Given the description of an element on the screen output the (x, y) to click on. 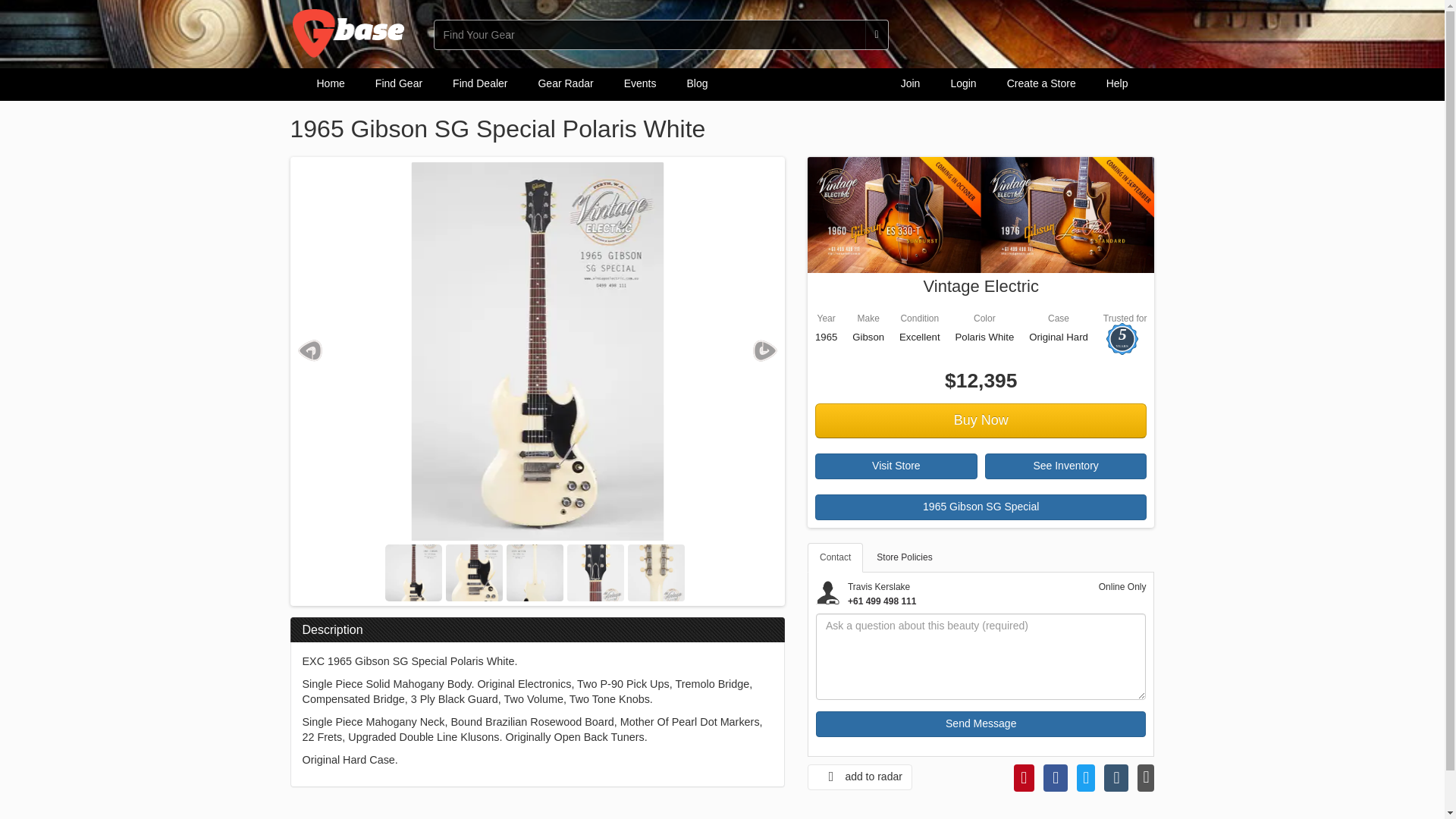
Visit Store (895, 466)
Blog (696, 83)
Store Policies (903, 557)
Create a Store (1040, 83)
See Inventory (1066, 466)
Find Dealer (480, 83)
Gear Radar (565, 83)
Send Message (981, 724)
Help (1116, 83)
Contact (835, 557)
